Given the description of an element on the screen output the (x, y) to click on. 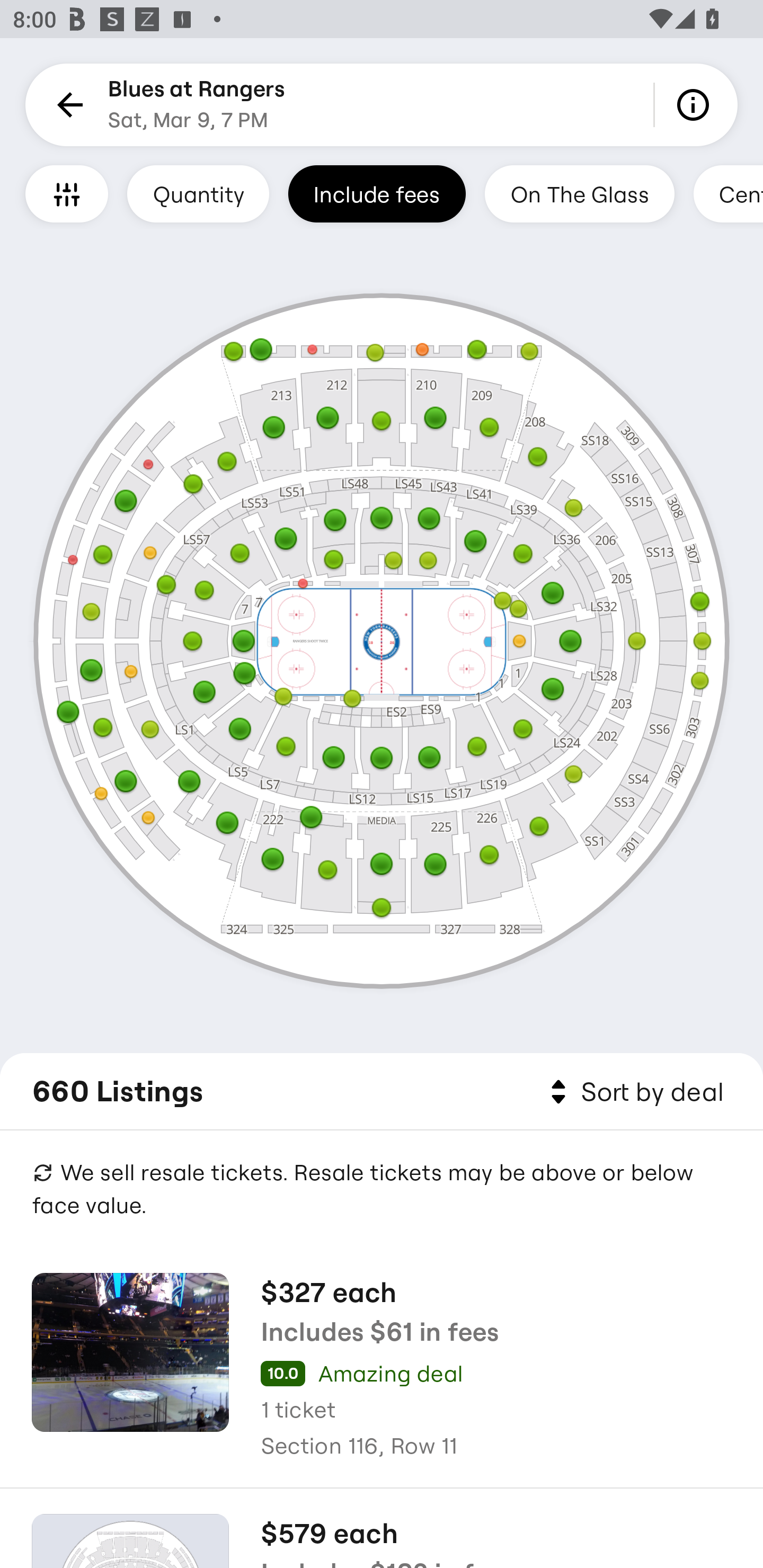
Back (66, 104)
Blues at Rangers Sat, Mar 9, 7 PM (196, 104)
Info (695, 104)
Filters and Accessible Seating (66, 193)
Quantity (198, 193)
Include fees (376, 193)
On The Glass (579, 193)
Sort by deal (633, 1091)
